Given the description of an element on the screen output the (x, y) to click on. 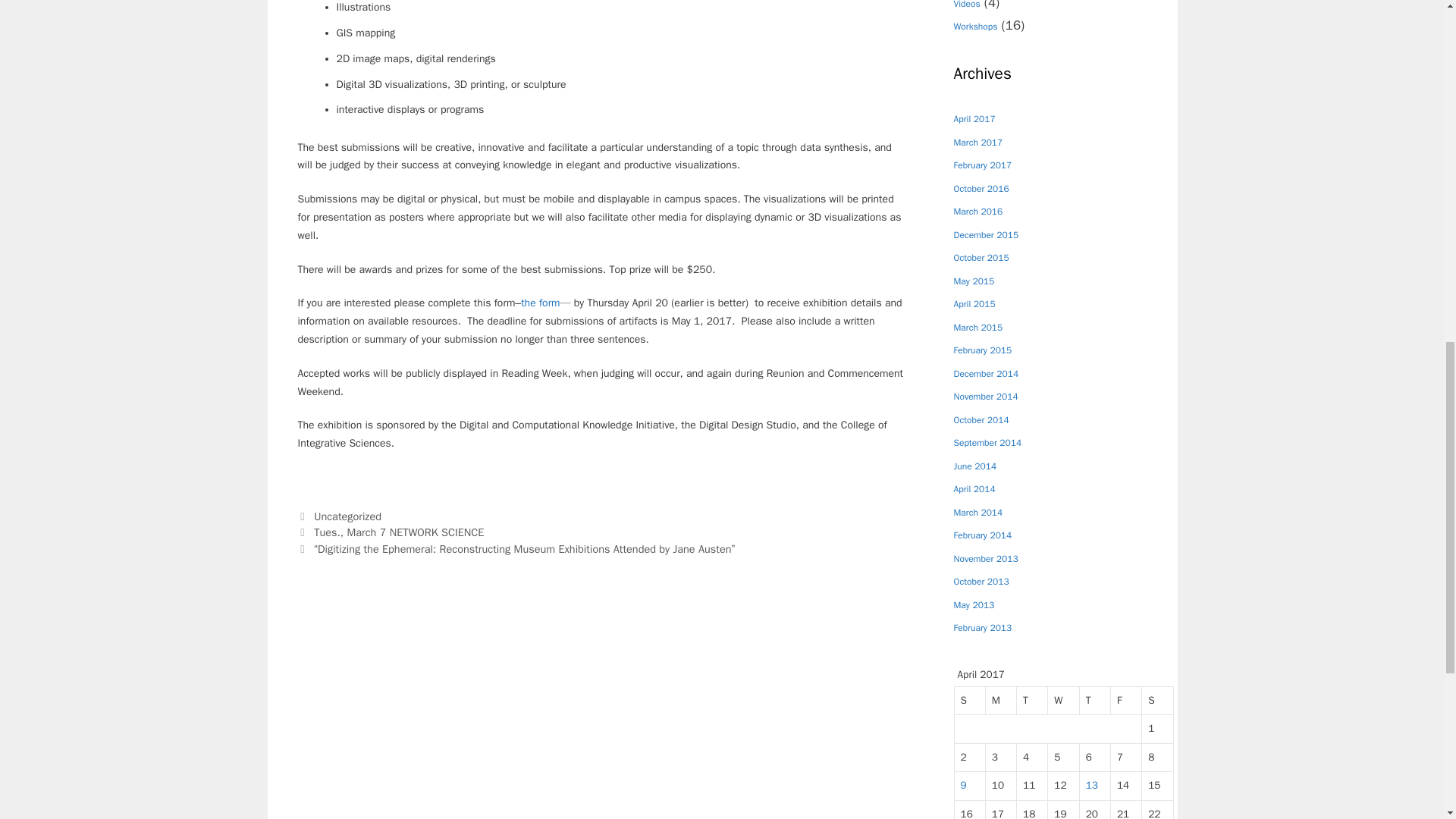
February 2017 (982, 168)
Wednesday (1063, 700)
December 2015 (986, 238)
September 2014 (987, 446)
October 2015 (981, 261)
Workshops (975, 30)
Tues., March 7 NETWORK SCIENCE (398, 531)
December 2014 (986, 377)
March 2016 (978, 215)
April 2015 (974, 307)
